Given the description of an element on the screen output the (x, y) to click on. 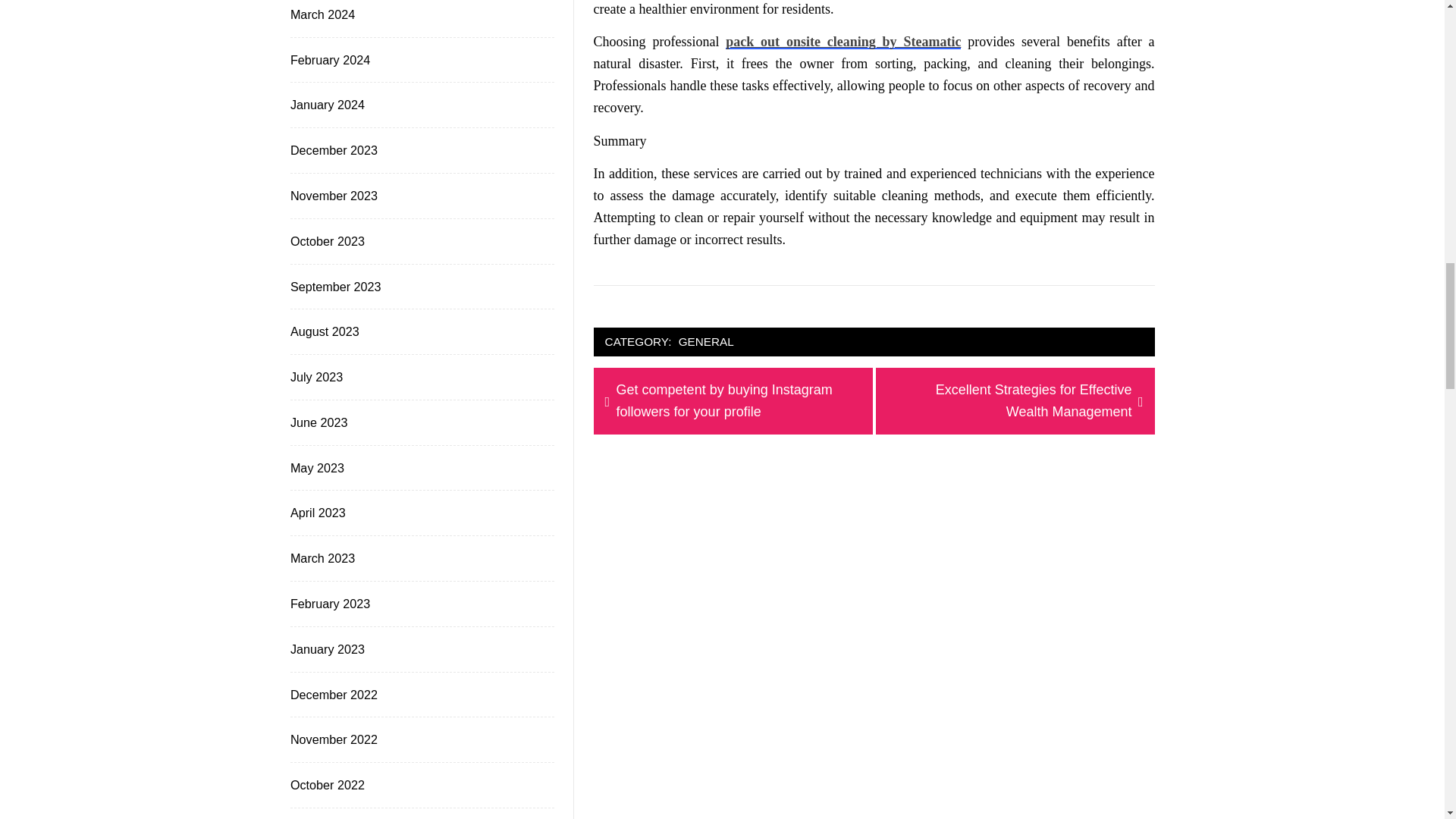
GENERAL (706, 341)
March 2024 (320, 14)
pack out onsite cleaning by Steamatic (842, 41)
